Given the description of an element on the screen output the (x, y) to click on. 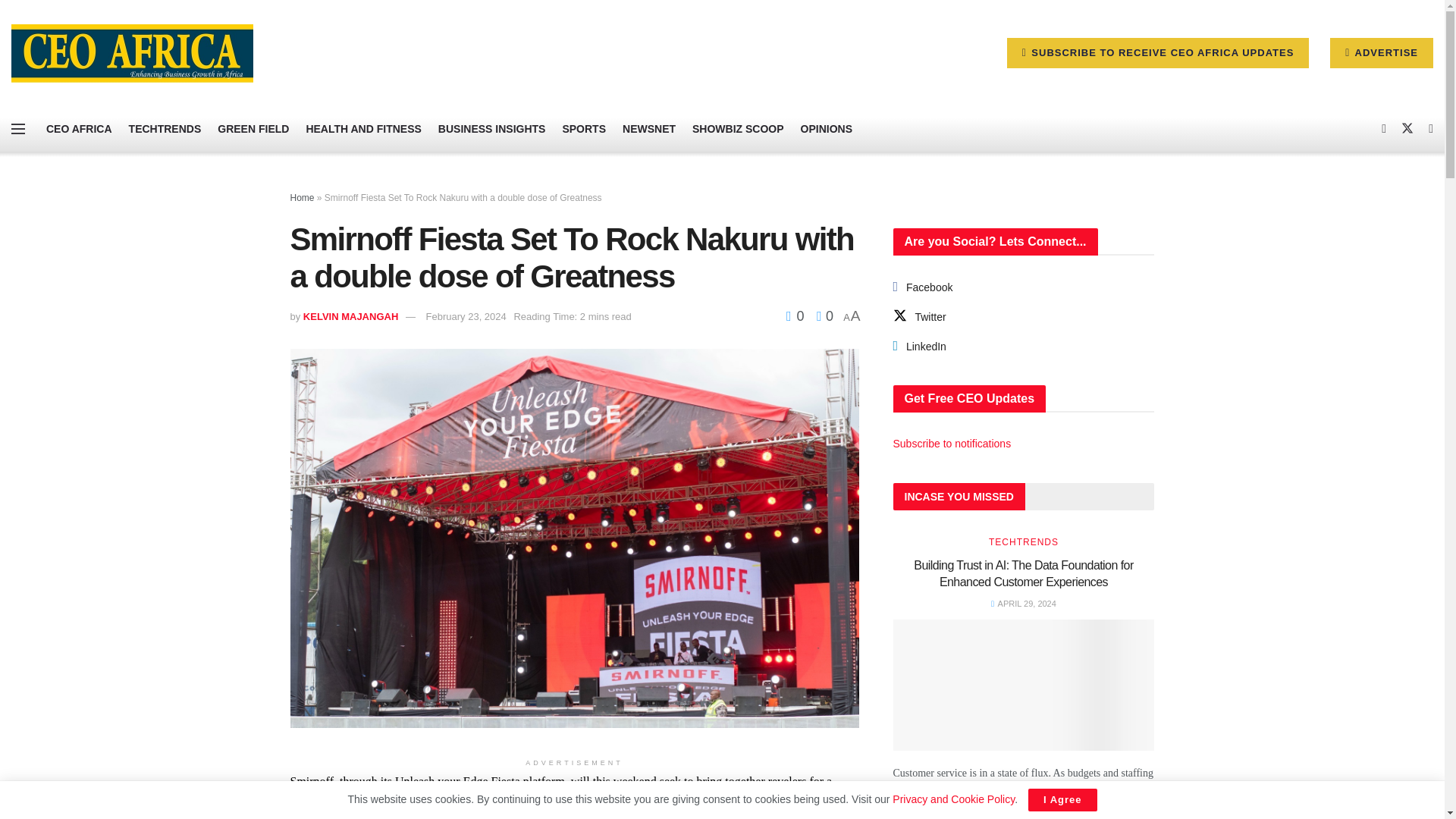
CEO AFRICA (79, 128)
SHOWBIZ SCOOP (738, 128)
BUSINESS INSIGHTS (492, 128)
TECHTRENDS (165, 128)
February 23, 2024 (466, 316)
Home (301, 197)
GREEN FIELD (252, 128)
KELVIN MAJANGAH (349, 316)
ADVERTISE (1381, 52)
SUBSCRIBE TO RECEIVE CEO AFRICA UPDATES (1157, 52)
OPINIONS (825, 128)
0 (797, 315)
HEALTH AND FITNESS (362, 128)
SPORTS (583, 128)
NEWSNET (649, 128)
